Given the description of an element on the screen output the (x, y) to click on. 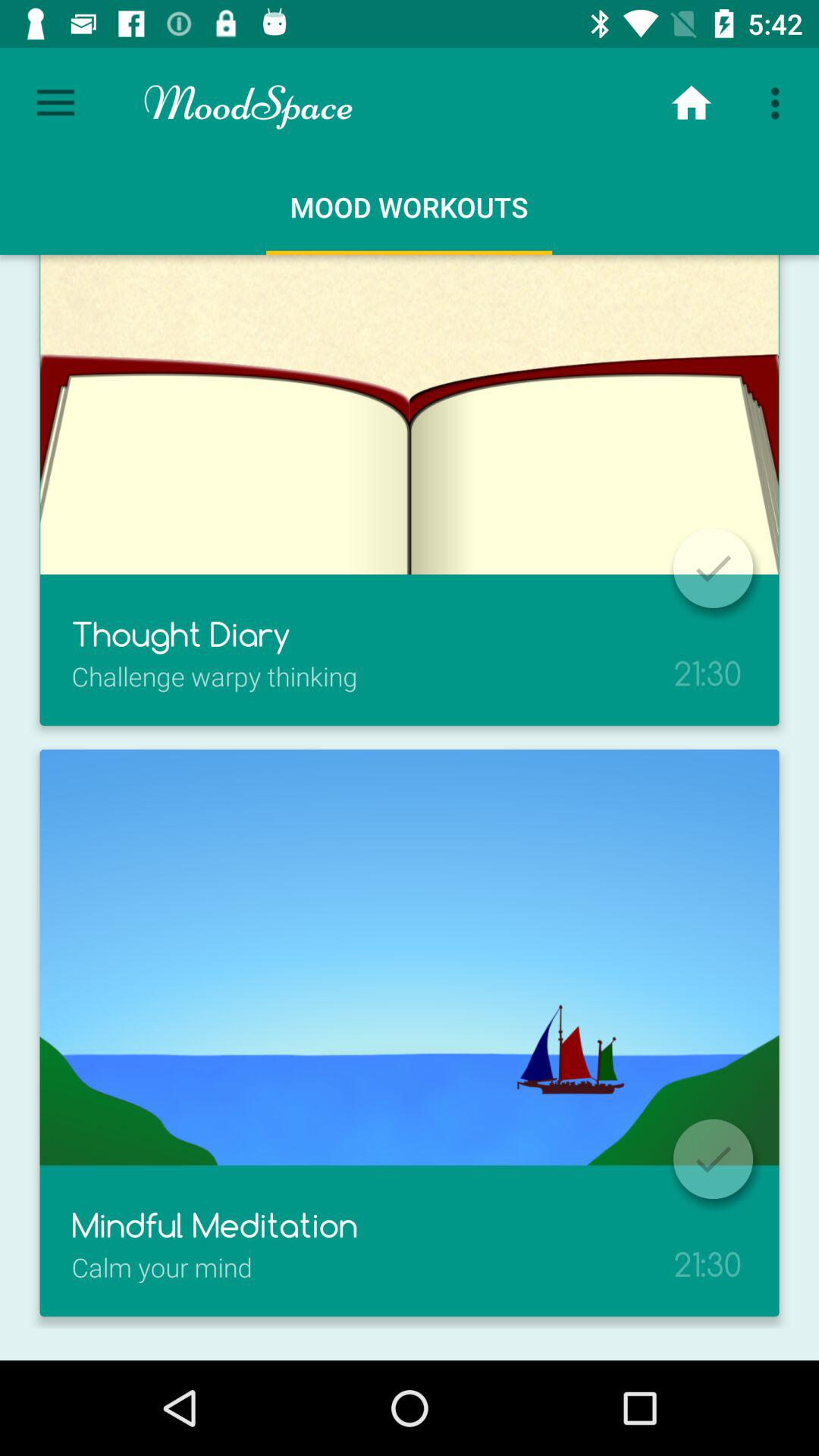
confirm the selection (713, 568)
